Given the description of an element on the screen output the (x, y) to click on. 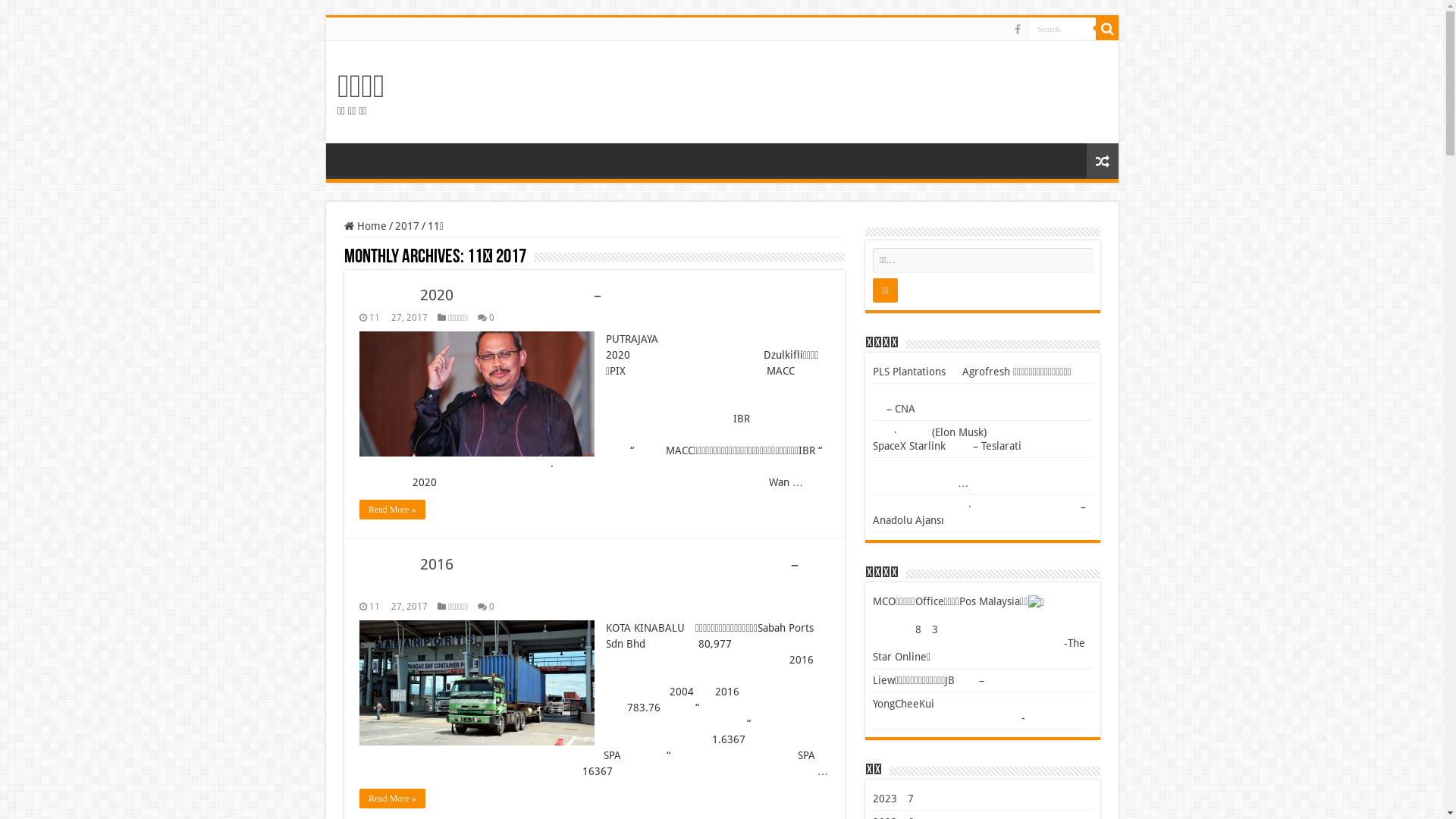
Home Element type: text (365, 225)
YongCheeKui Element type: text (903, 703)
Search Element type: hover (1061, 28)
Facebook Element type: hover (1017, 29)
0 Element type: text (491, 317)
Search Element type: text (1106, 28)
Liew Element type: text (883, 680)
2017 Element type: text (407, 225)
0 Element type: text (491, 606)
